Given the description of an element on the screen output the (x, y) to click on. 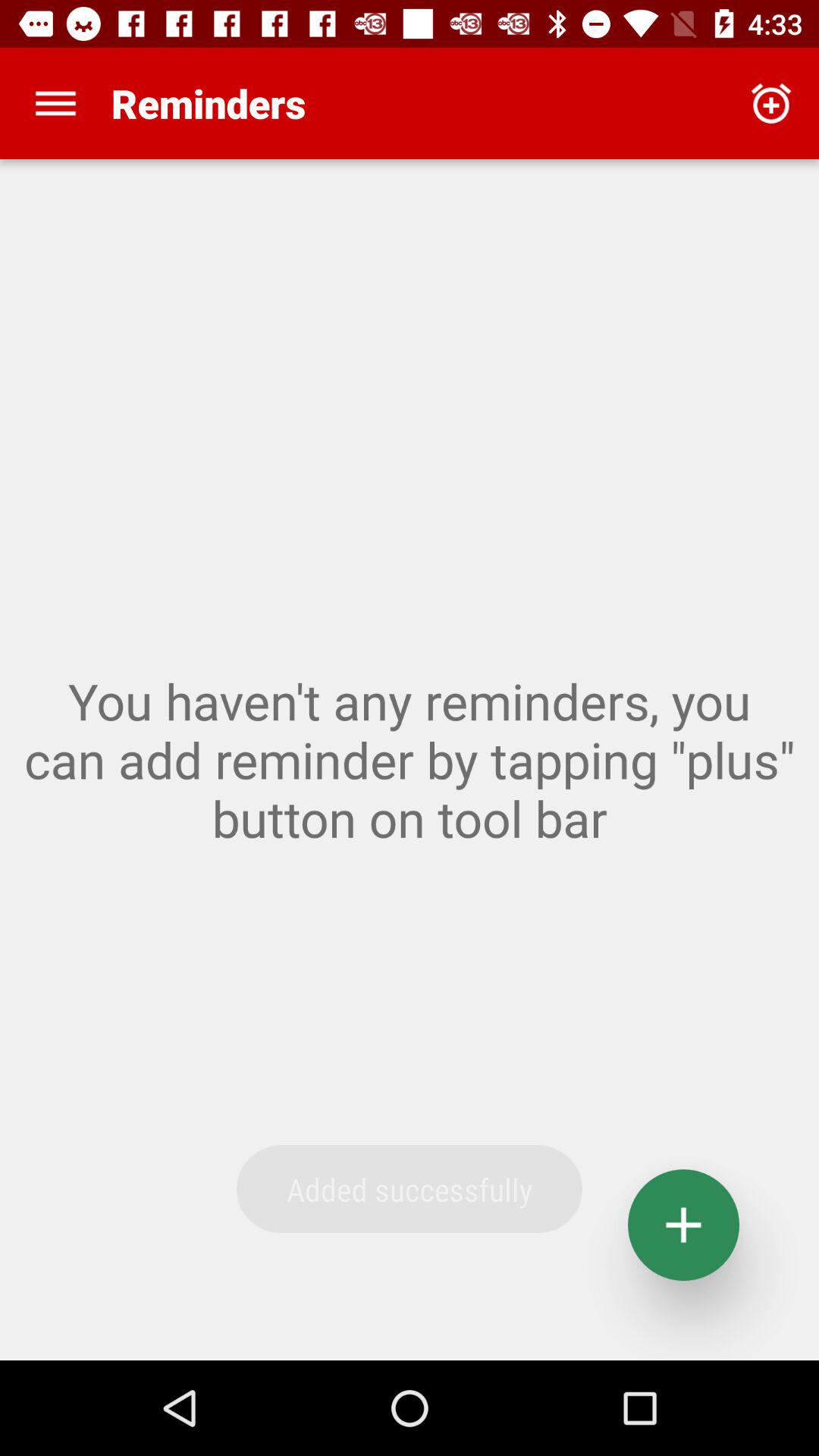
turn on the item at the top right corner (771, 103)
